Given the description of an element on the screen output the (x, y) to click on. 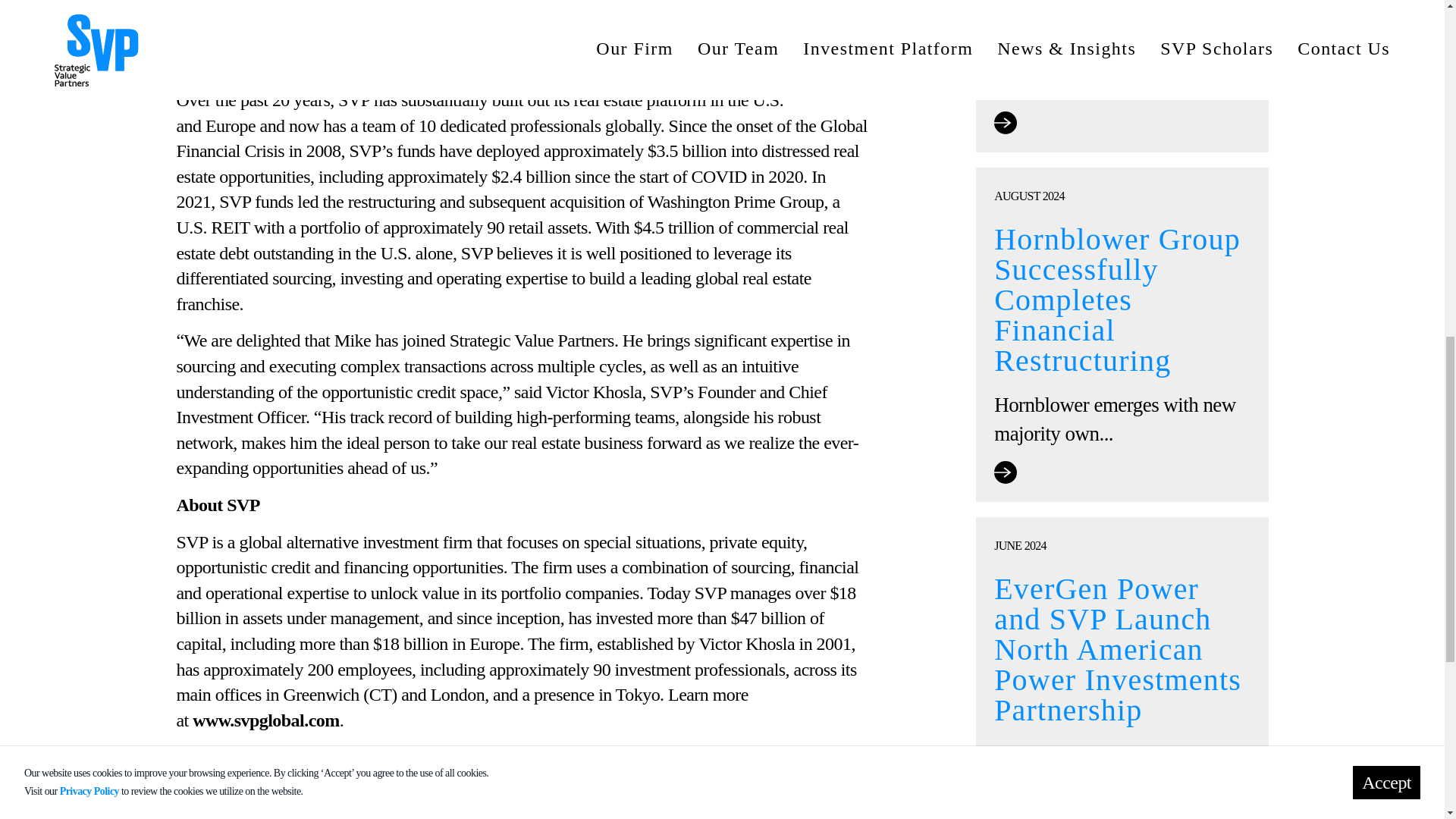
www.svpglobal.com (265, 720)
